Given the description of an element on the screen output the (x, y) to click on. 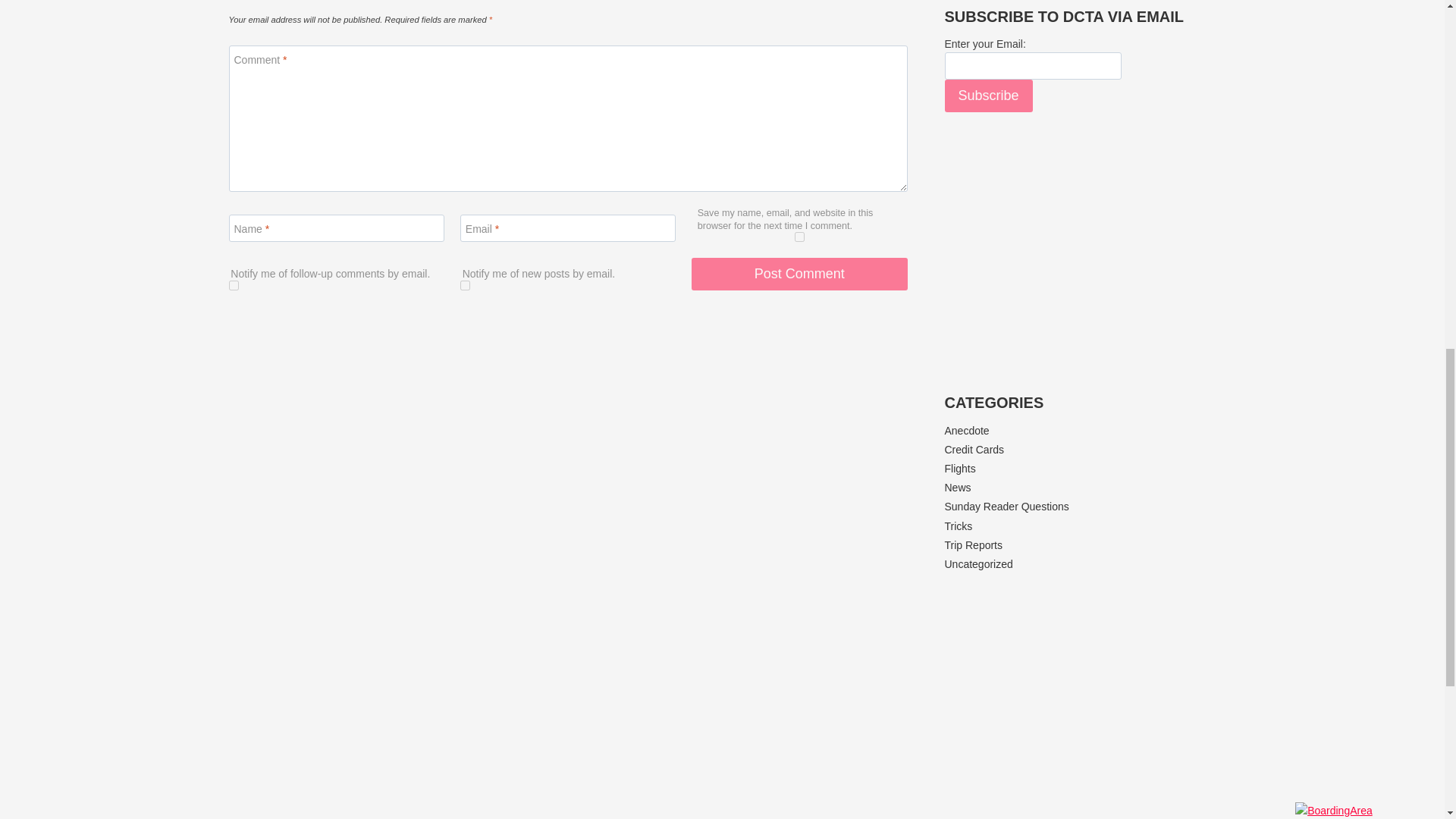
Tricks (958, 526)
Credit Cards (974, 449)
yes (799, 236)
subscribe (233, 285)
Flights (959, 468)
Subscribe (988, 95)
Anecdote (967, 430)
subscribe (465, 285)
Post Comment (799, 273)
News (957, 487)
